Given the description of an element on the screen output the (x, y) to click on. 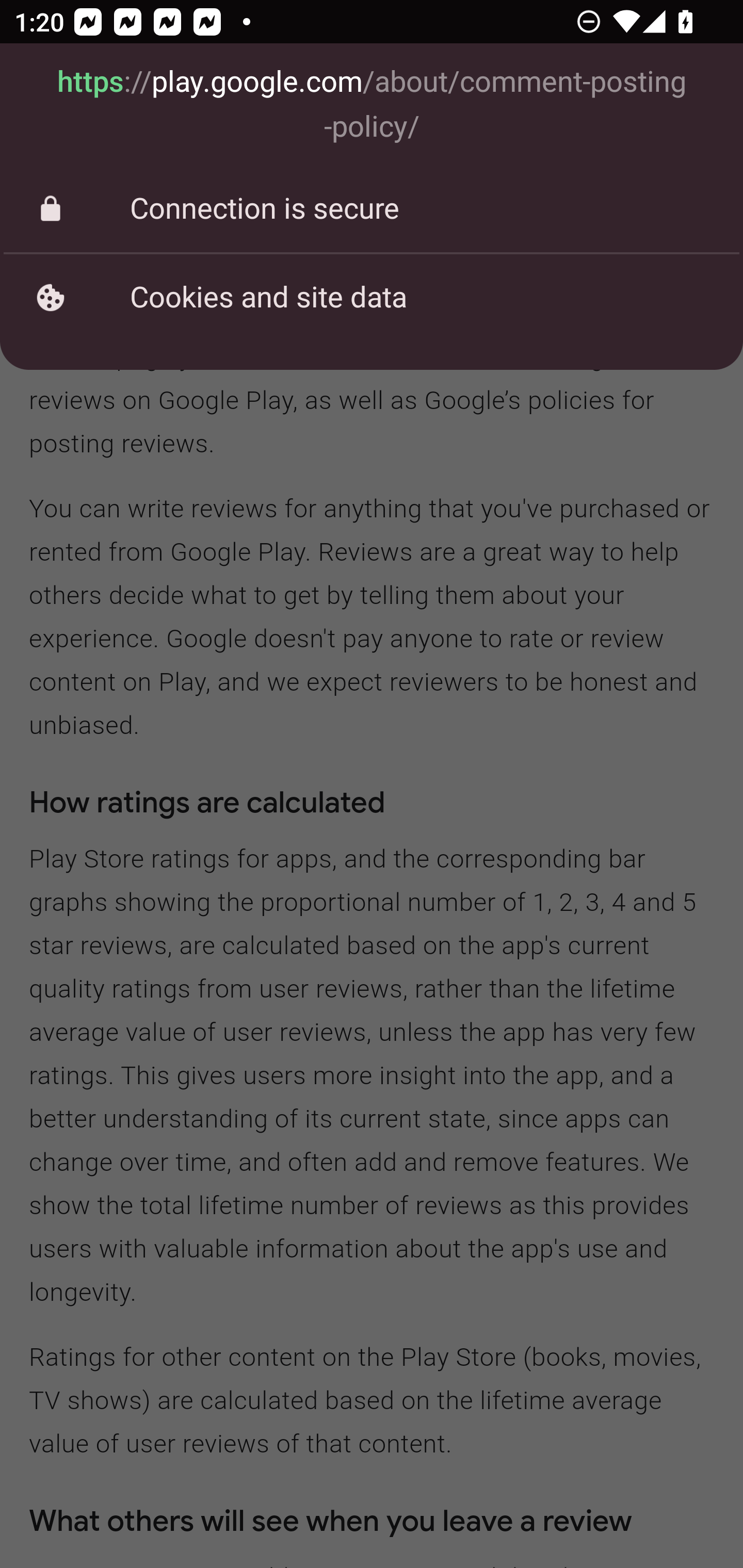
Connection is secure (371, 209)
Cookies and site data (371, 297)
